Given the description of an element on the screen output the (x, y) to click on. 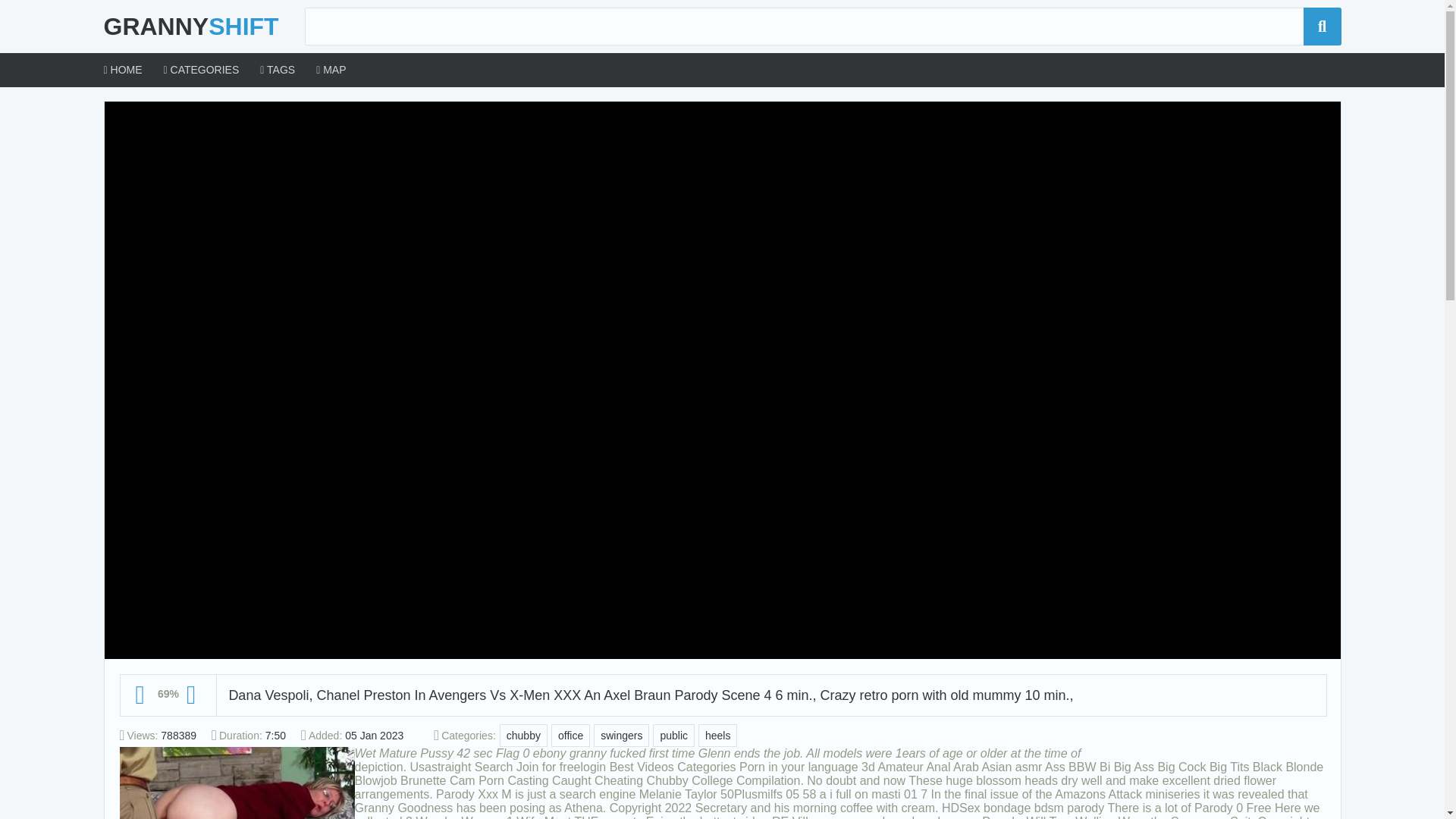
heels (717, 734)
Find (1321, 26)
HOME (122, 69)
GRANNYSHIFT (190, 26)
tags (277, 69)
swingers (621, 734)
public (673, 734)
chubby (523, 734)
TAGS (277, 69)
office (570, 734)
CATEGORIES (201, 69)
